Given the description of an element on the screen output the (x, y) to click on. 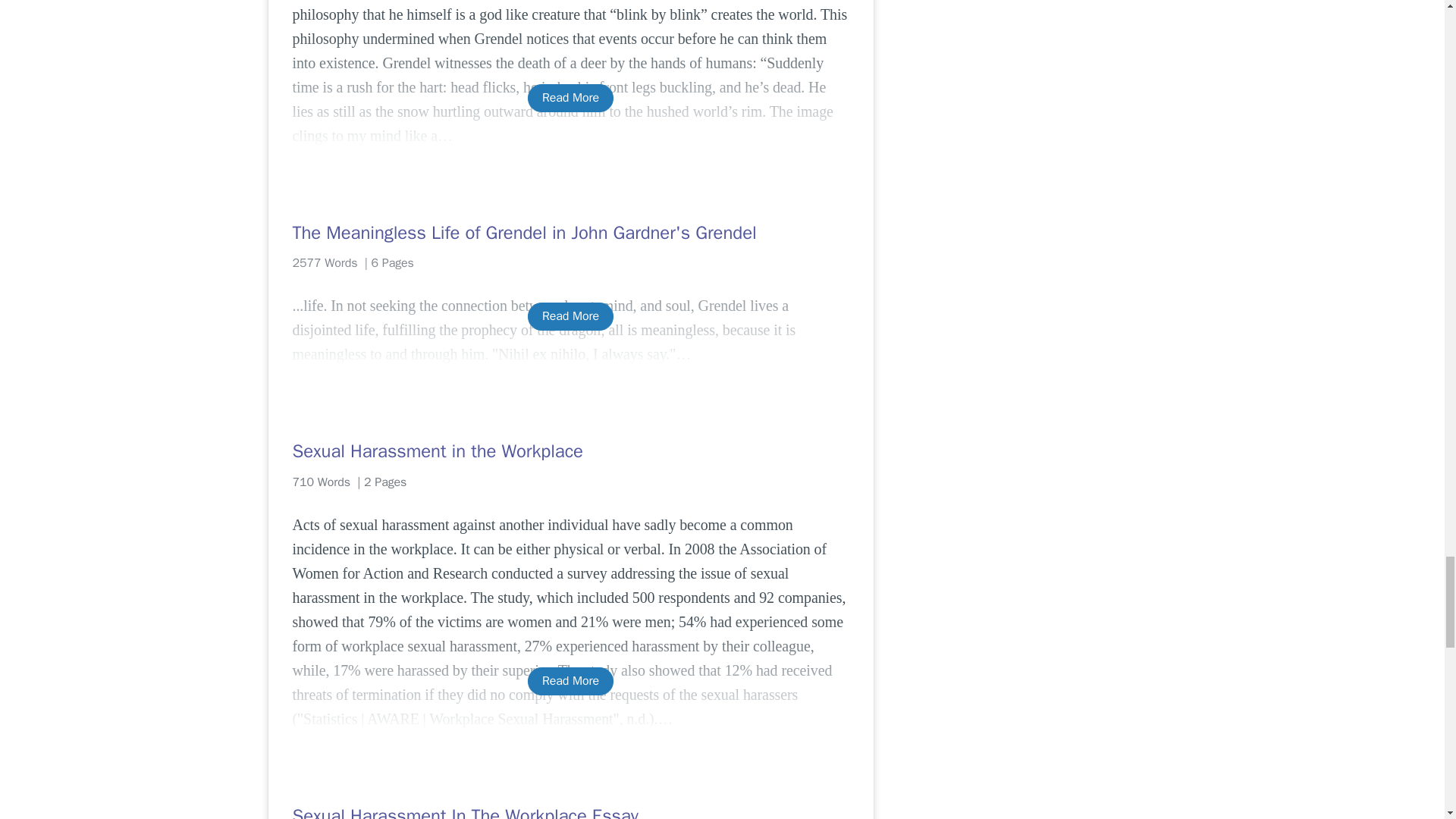
Read More (569, 98)
The Meaningless Life of Grendel in John Gardner's Grendel (570, 232)
